Given the description of an element on the screen output the (x, y) to click on. 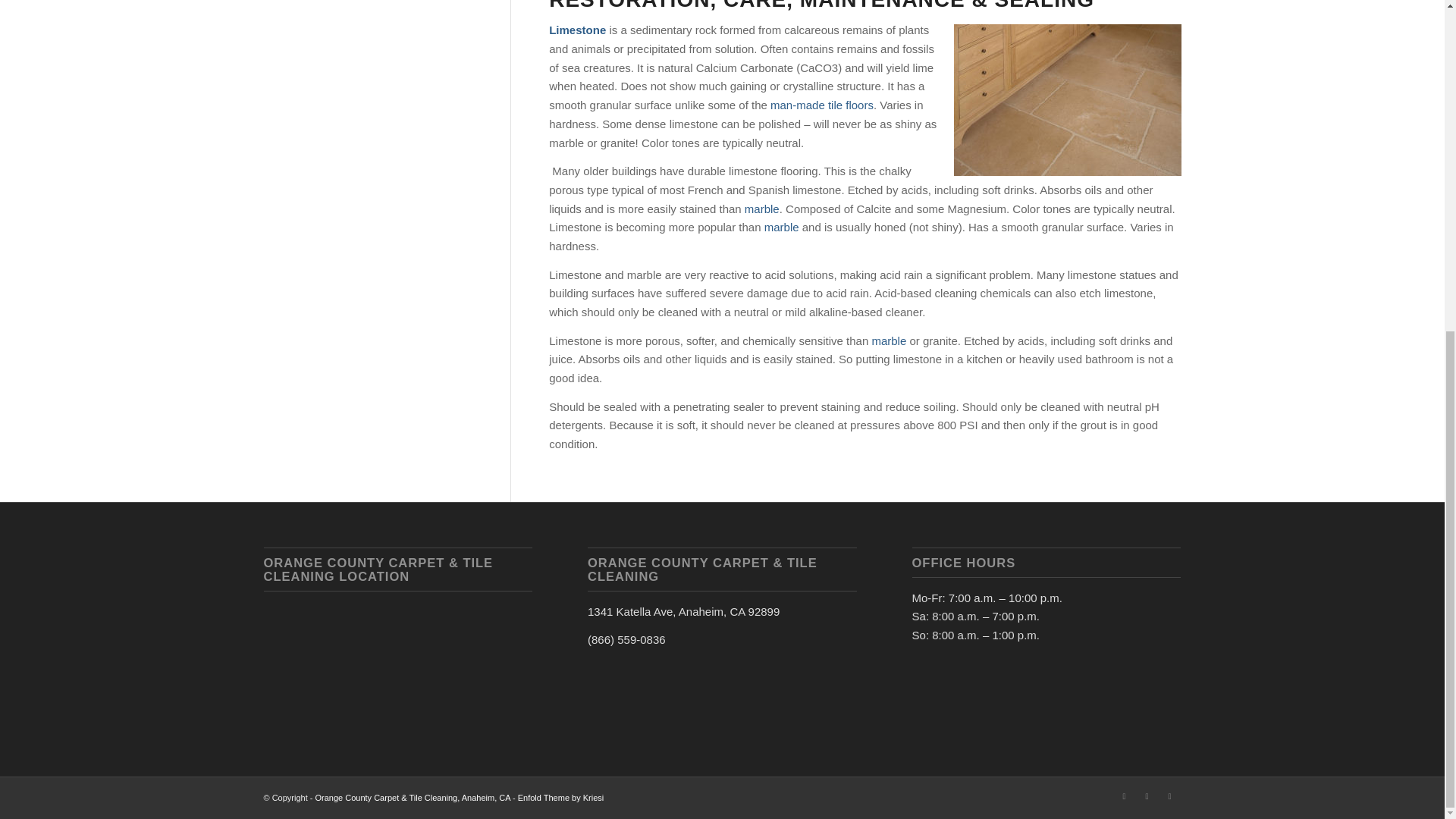
LinkedIn (1169, 795)
Twitter (1146, 795)
Facebook (1124, 795)
